Given the description of an element on the screen output the (x, y) to click on. 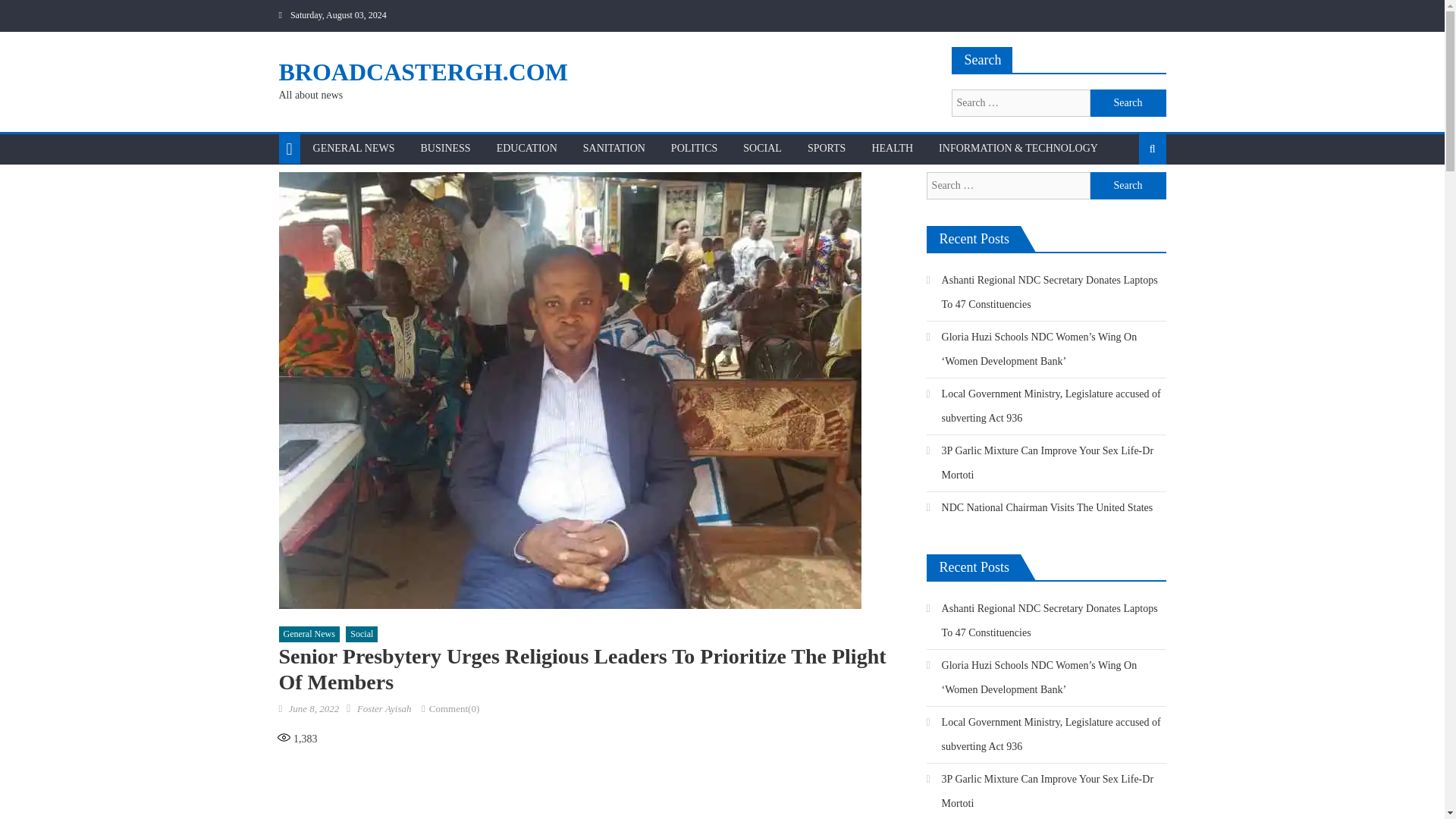
Search (1128, 185)
June 8, 2022 (313, 708)
Search (1128, 103)
Search (1128, 197)
BROADCASTERGH.COM (423, 71)
SANITATION (614, 148)
Search (1128, 103)
BUSINESS (445, 148)
GENERAL NEWS (353, 148)
General News (309, 634)
SPORTS (826, 148)
Search (1128, 103)
SOCIAL (762, 148)
Foster Ayisah (384, 708)
HEALTH (892, 148)
